Given the description of an element on the screen output the (x, y) to click on. 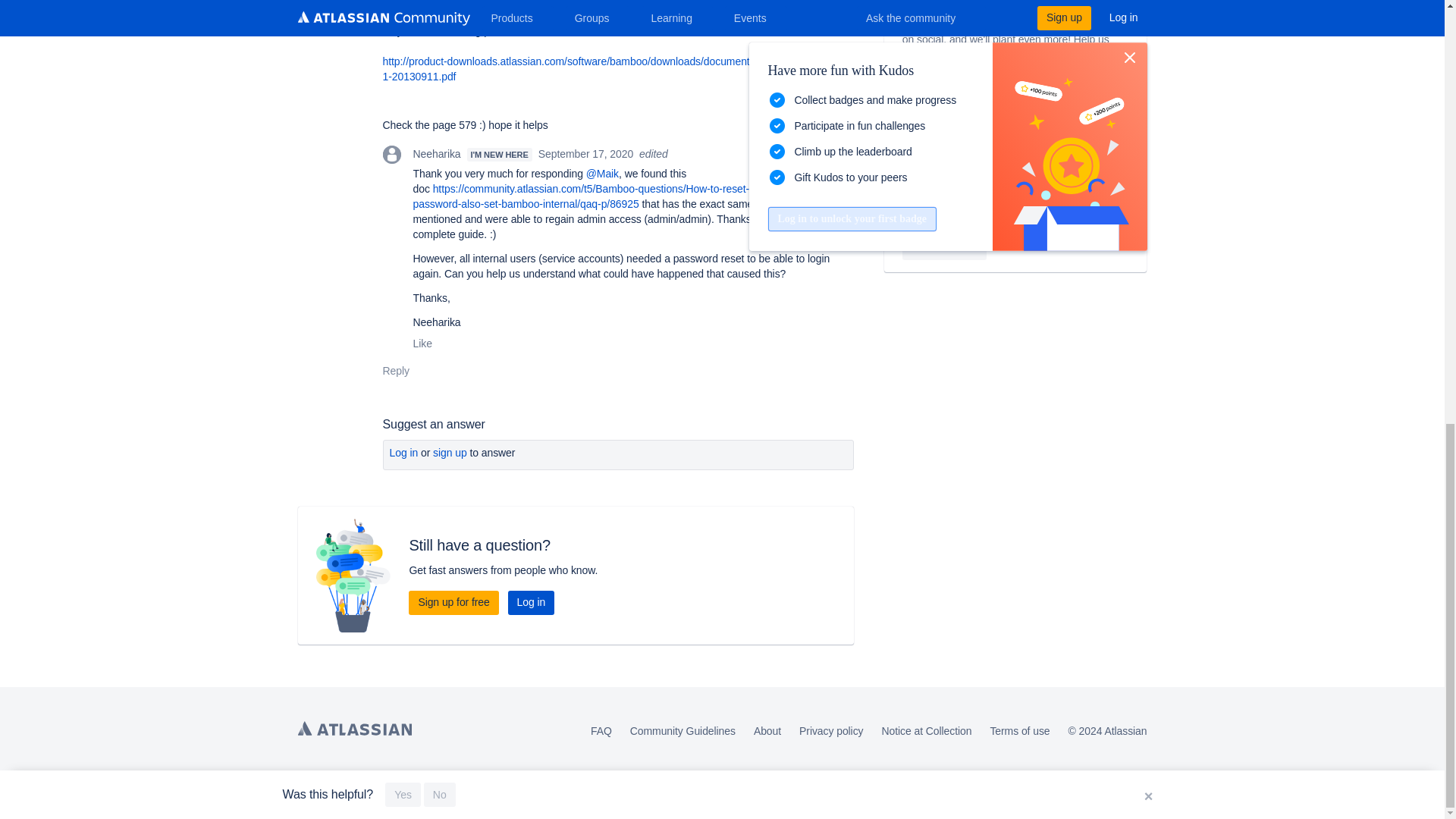
AUG Leaders (911, 171)
Neeharika (390, 154)
